Given the description of an element on the screen output the (x, y) to click on. 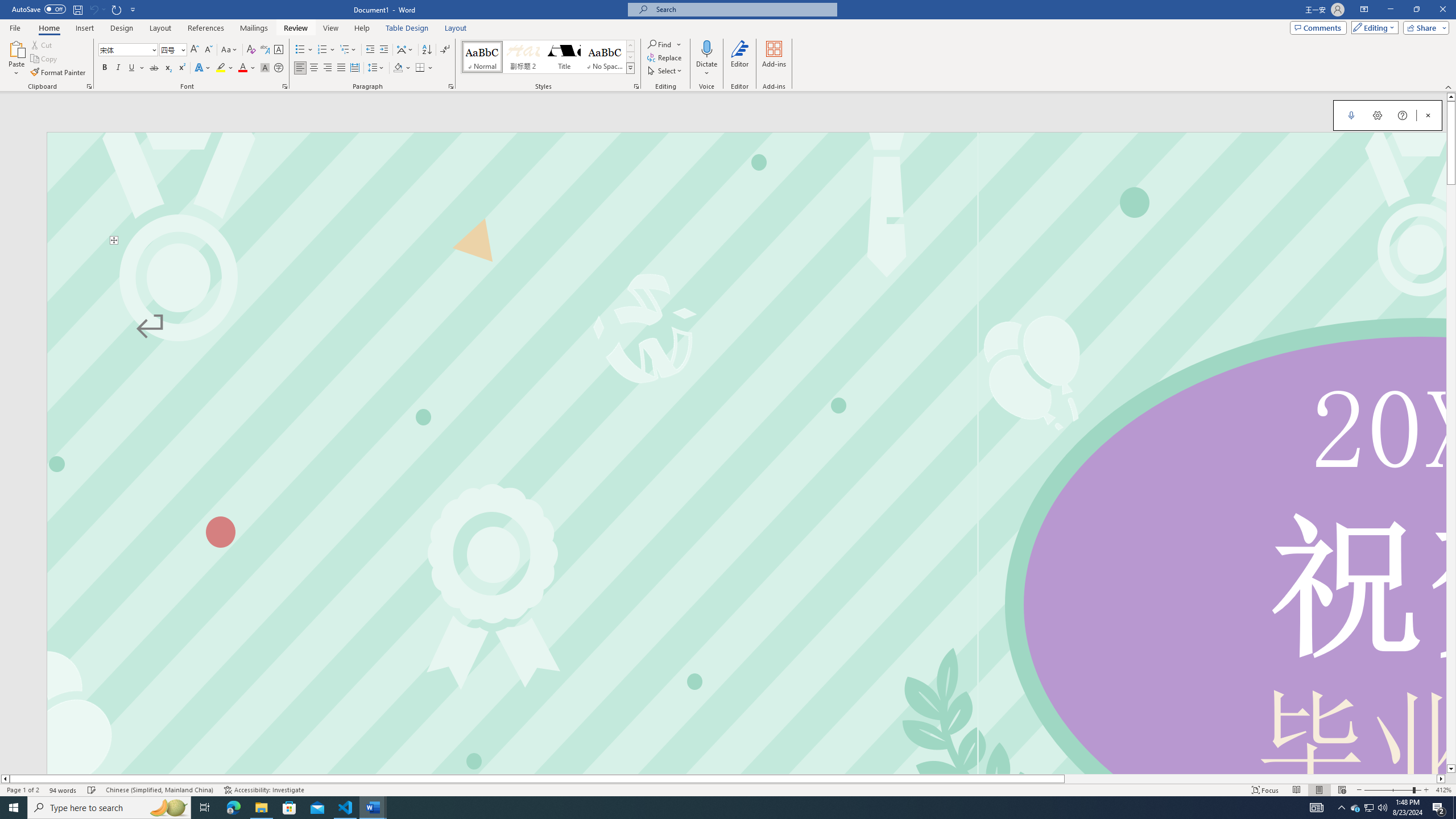
Table Design (407, 28)
Page 1 content (745, 508)
Page Number Page 1 of 2 (22, 790)
Grow Font (193, 49)
Font Color Red (241, 67)
Can't Undo (92, 9)
Increase Indent (383, 49)
Distributed (354, 67)
Align Right (327, 67)
Bold (104, 67)
